Given the description of an element on the screen output the (x, y) to click on. 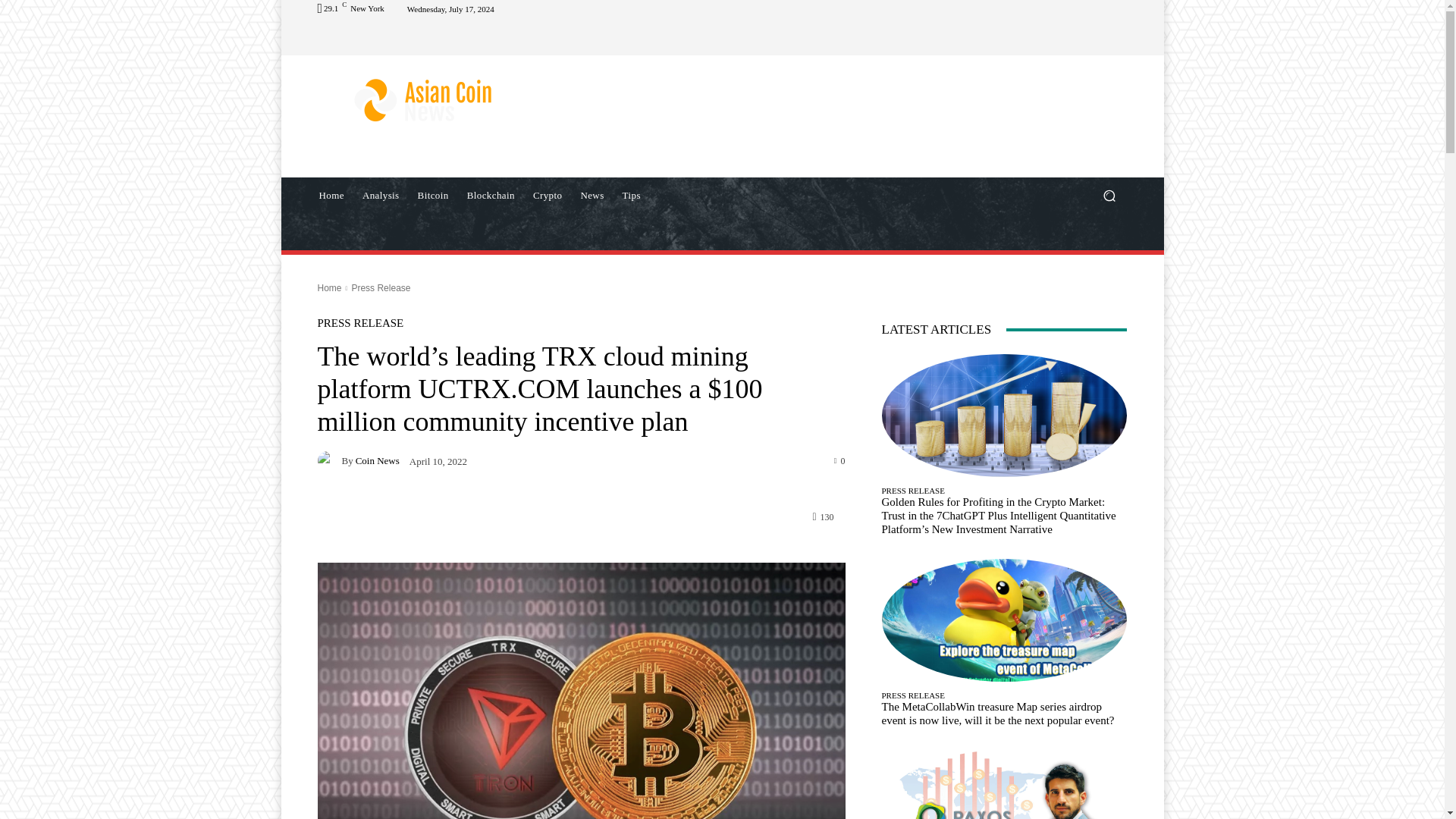
Home (328, 287)
PRESS RELEASE (360, 323)
Tips (630, 195)
News (591, 195)
Crypto (548, 195)
Bitcoin (433, 195)
Coin News (328, 460)
Analysis (381, 195)
Blockchain (491, 195)
0 (839, 460)
View all posts in Press Release (380, 287)
Coin News (376, 460)
Home (330, 195)
Press Release (380, 287)
